Given the description of an element on the screen output the (x, y) to click on. 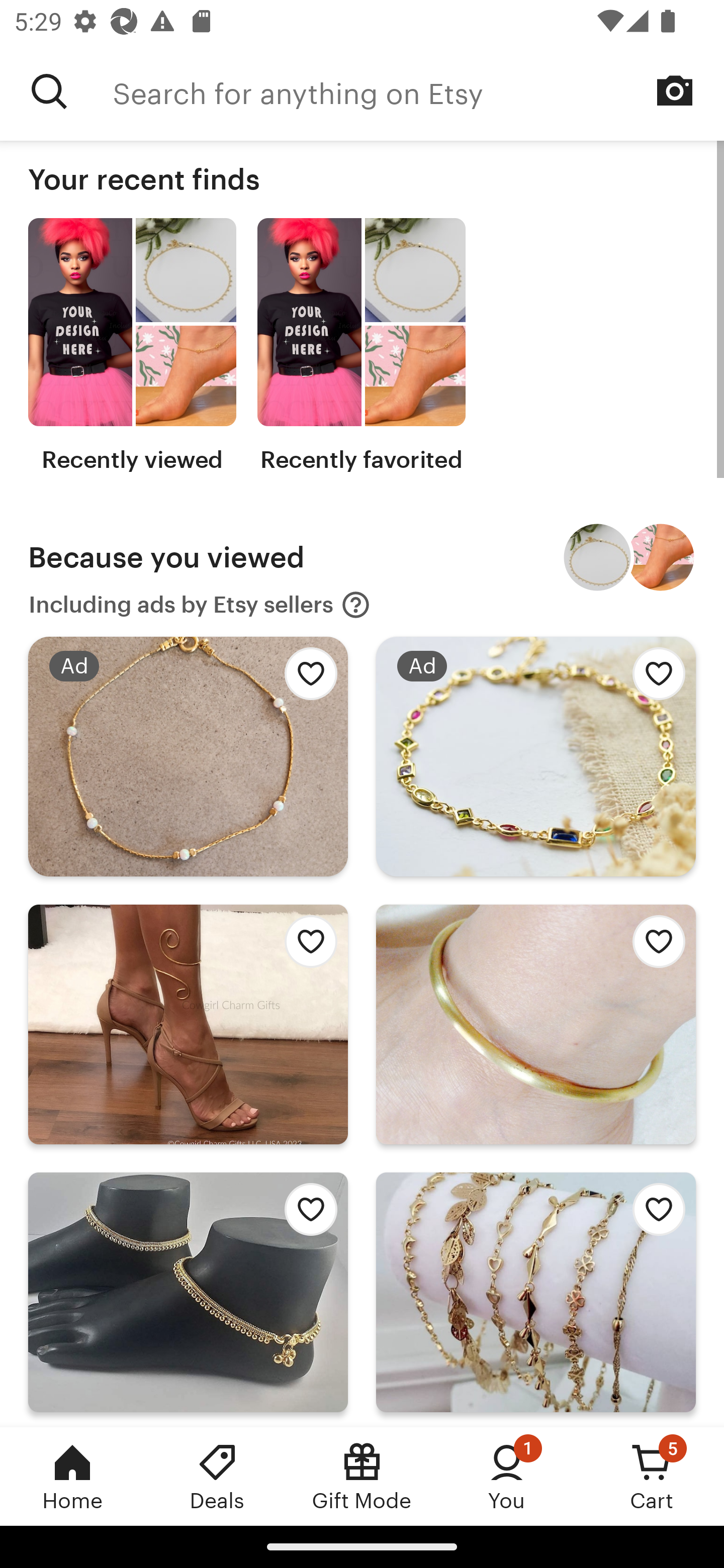
Search for anything on Etsy (49, 91)
Search by image (674, 90)
Search for anything on Etsy (418, 91)
Recently viewed (132, 345)
Recently favorited (361, 345)
Including ads by Etsy sellers (199, 604)
Deals (216, 1475)
Gift Mode (361, 1475)
You, 1 new notification You (506, 1475)
Cart, 5 new notifications Cart (651, 1475)
